Given the description of an element on the screen output the (x, y) to click on. 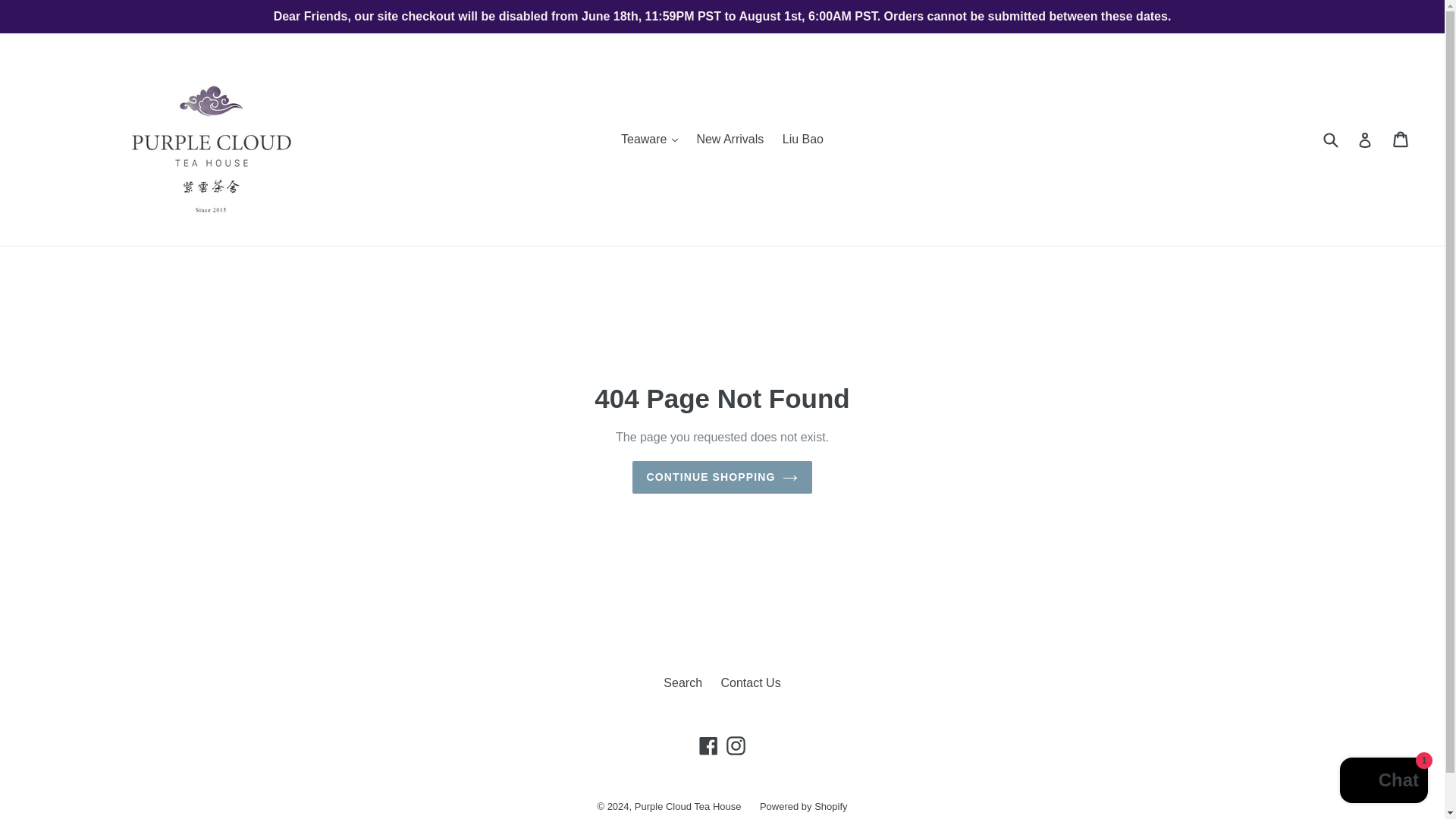
Purple Cloud Tea House on Instagram (735, 745)
Purple Cloud Tea House on Facebook (708, 745)
Shopify online store chat (1383, 781)
